Given the description of an element on the screen output the (x, y) to click on. 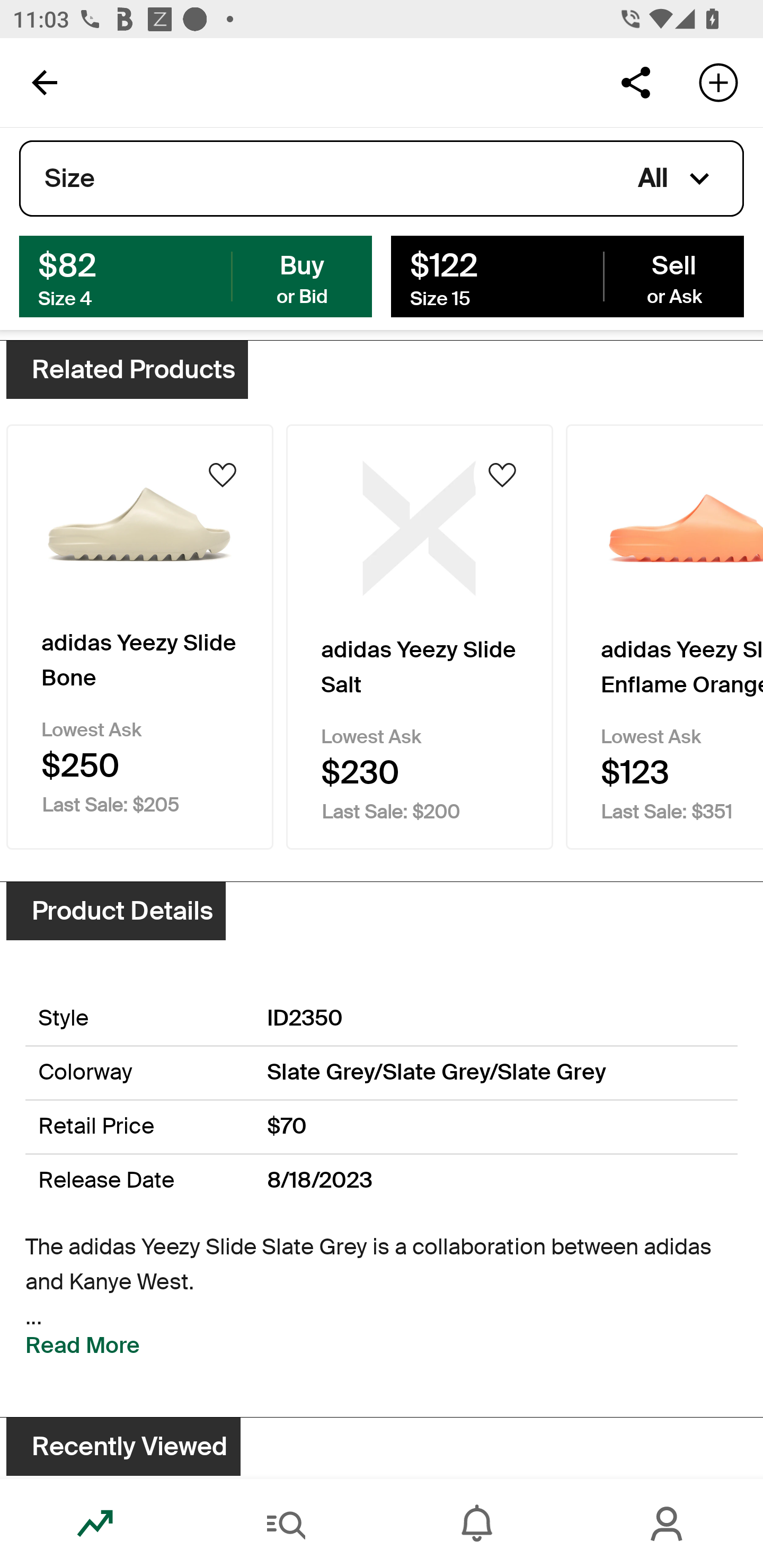
Share (635, 81)
Add (718, 81)
Size All (381, 178)
$82 Buy Size 4 or Bid (195, 275)
$122 Sell Size 15 or Ask (566, 275)
Read More (82, 1345)
Search (285, 1523)
Inbox (476, 1523)
Account (667, 1523)
